Given the description of an element on the screen output the (x, y) to click on. 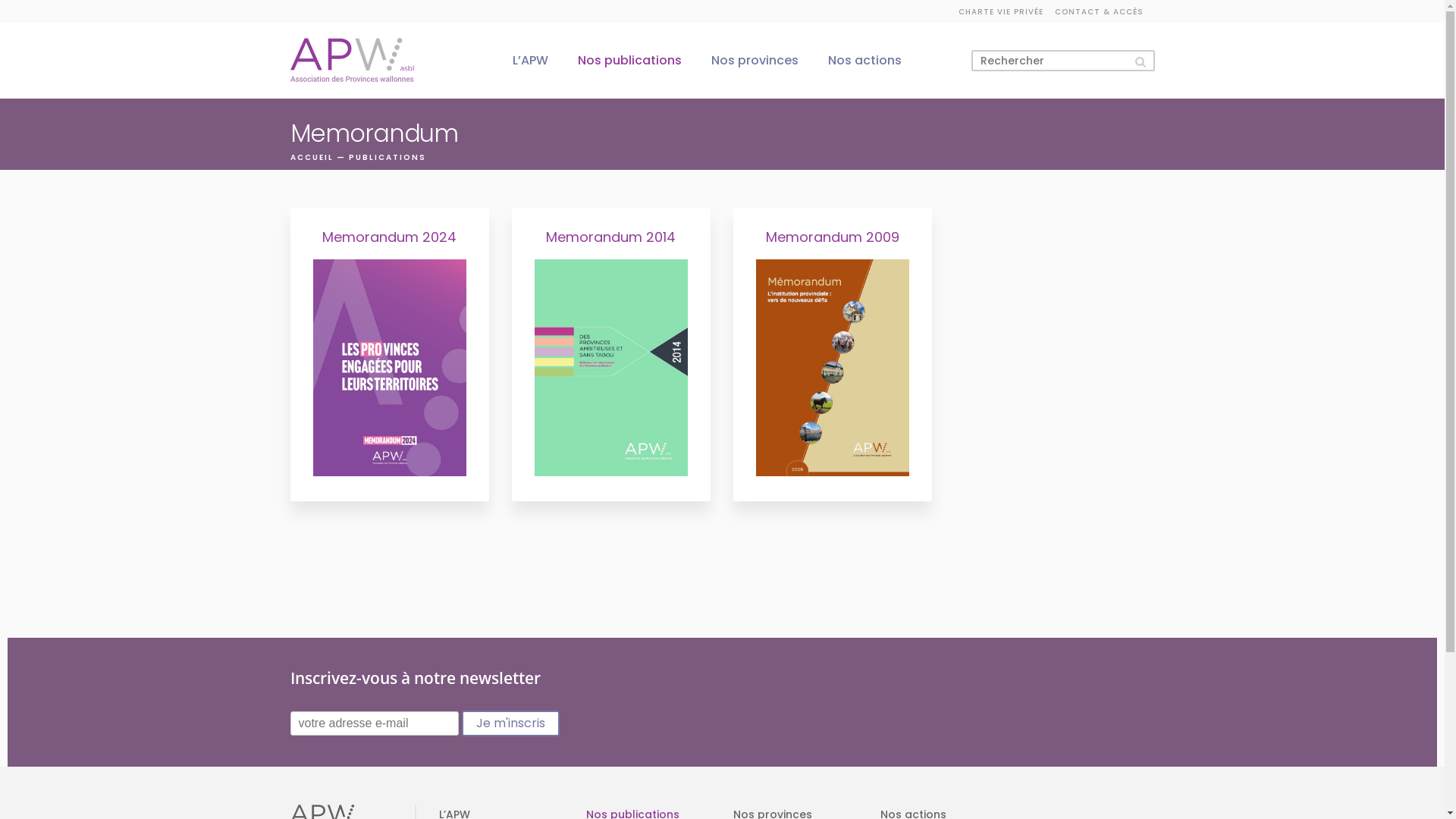
PUBLICATIONS Element type: text (387, 157)
Nos provinces Element type: text (754, 59)
Memorandum 2024 Element type: text (388, 354)
Association des Provinces Wallonnes Element type: hover (351, 59)
ACCUEIL Element type: text (310, 157)
Nos actions Element type: text (864, 59)
Nos publications Element type: text (629, 59)
Je m'inscris Element type: text (509, 723)
Memorandum 2009 Element type: text (831, 354)
Memorandum 2014 Element type: text (610, 354)
